Given the description of an element on the screen output the (x, y) to click on. 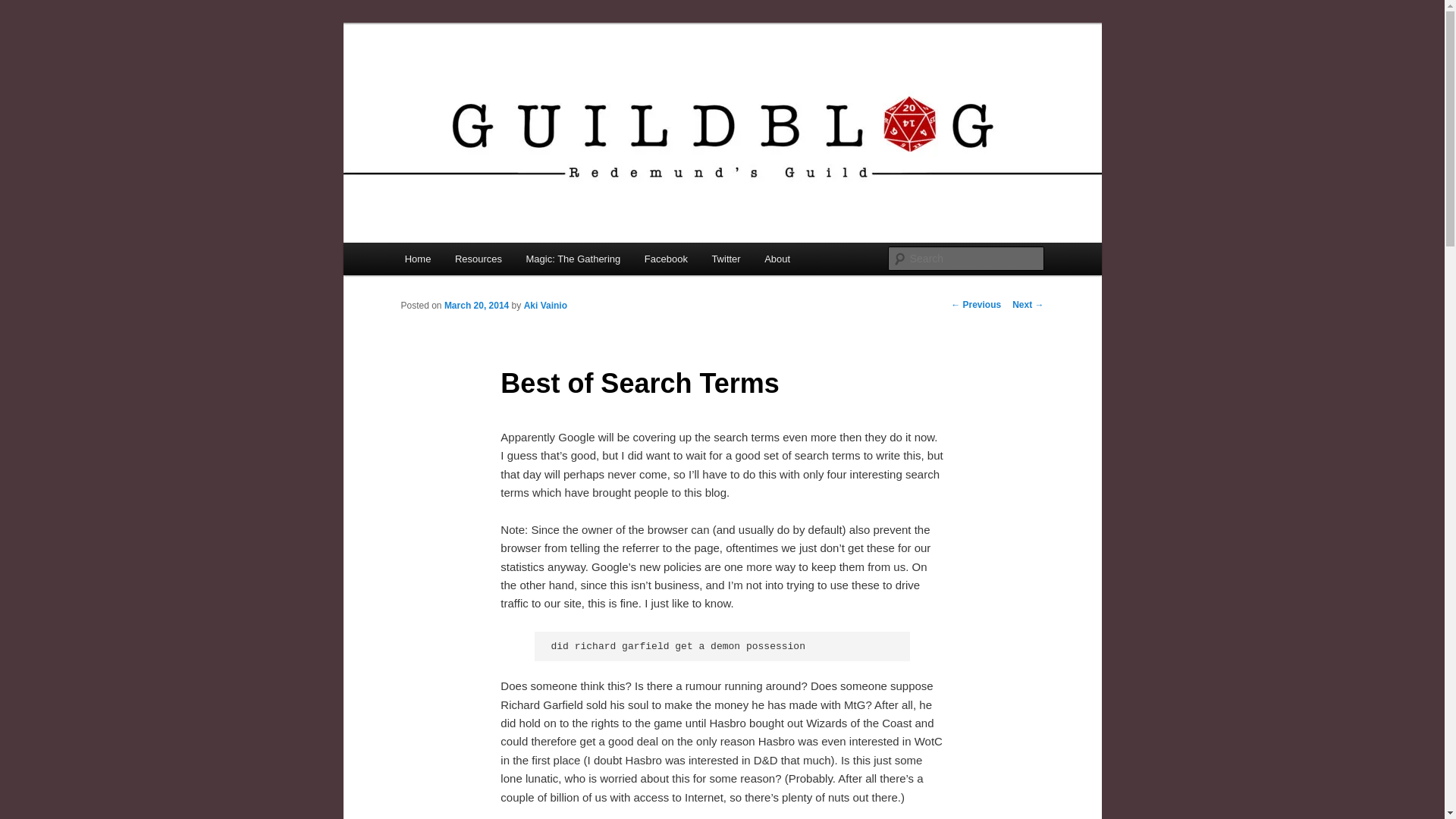
Facebook (665, 258)
Search (21, 11)
Home (417, 258)
Twitter (726, 258)
Aki Vainio (545, 305)
Resources (477, 258)
March 20, 2014 (476, 305)
View all posts by Aki Vainio (545, 305)
Magic: The Gathering (572, 258)
10:18 (476, 305)
Guild Blog (457, 78)
About (777, 258)
Search (24, 8)
